Given the description of an element on the screen output the (x, y) to click on. 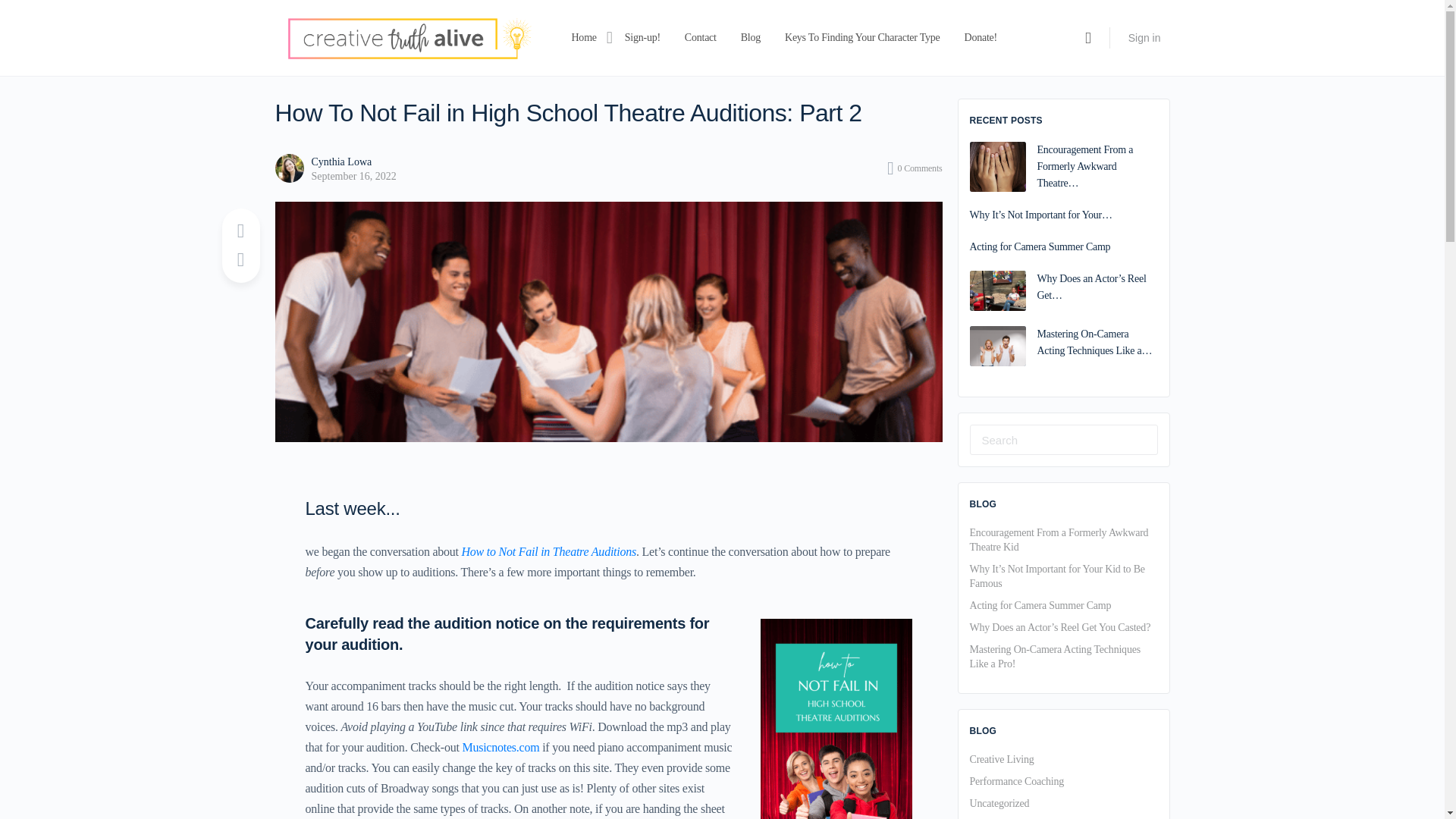
September 16, 2022 (353, 175)
Cynthia Lowa (341, 161)
Keys To Finding Your Character Type (862, 37)
Musicnotes.com (499, 747)
How to Not Fail in Theatre Auditions (549, 551)
Sign in (1144, 37)
0 Comments (914, 168)
